Given the description of an element on the screen output the (x, y) to click on. 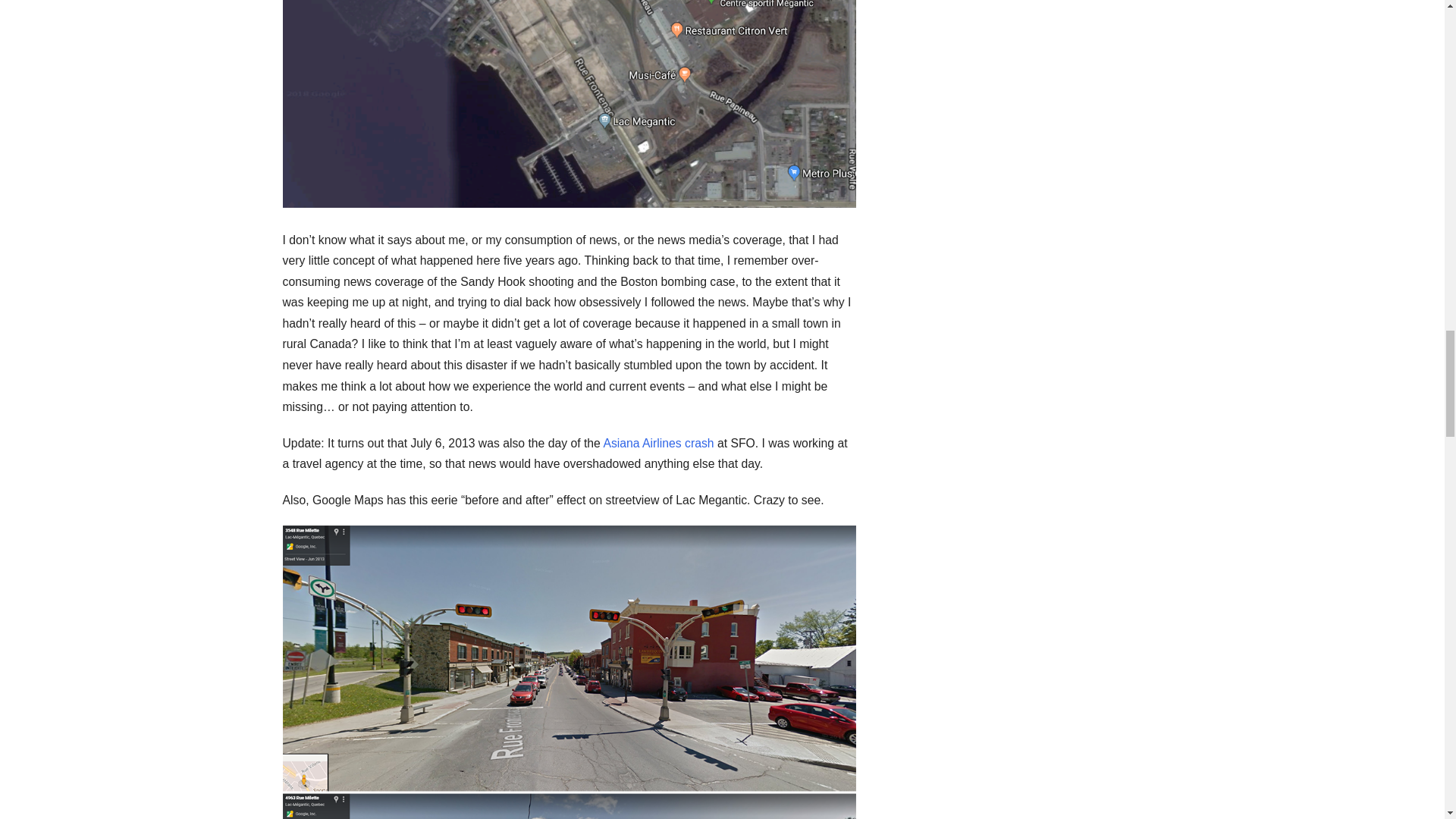
Asiana Airlines crash (657, 442)
